Given the description of an element on the screen output the (x, y) to click on. 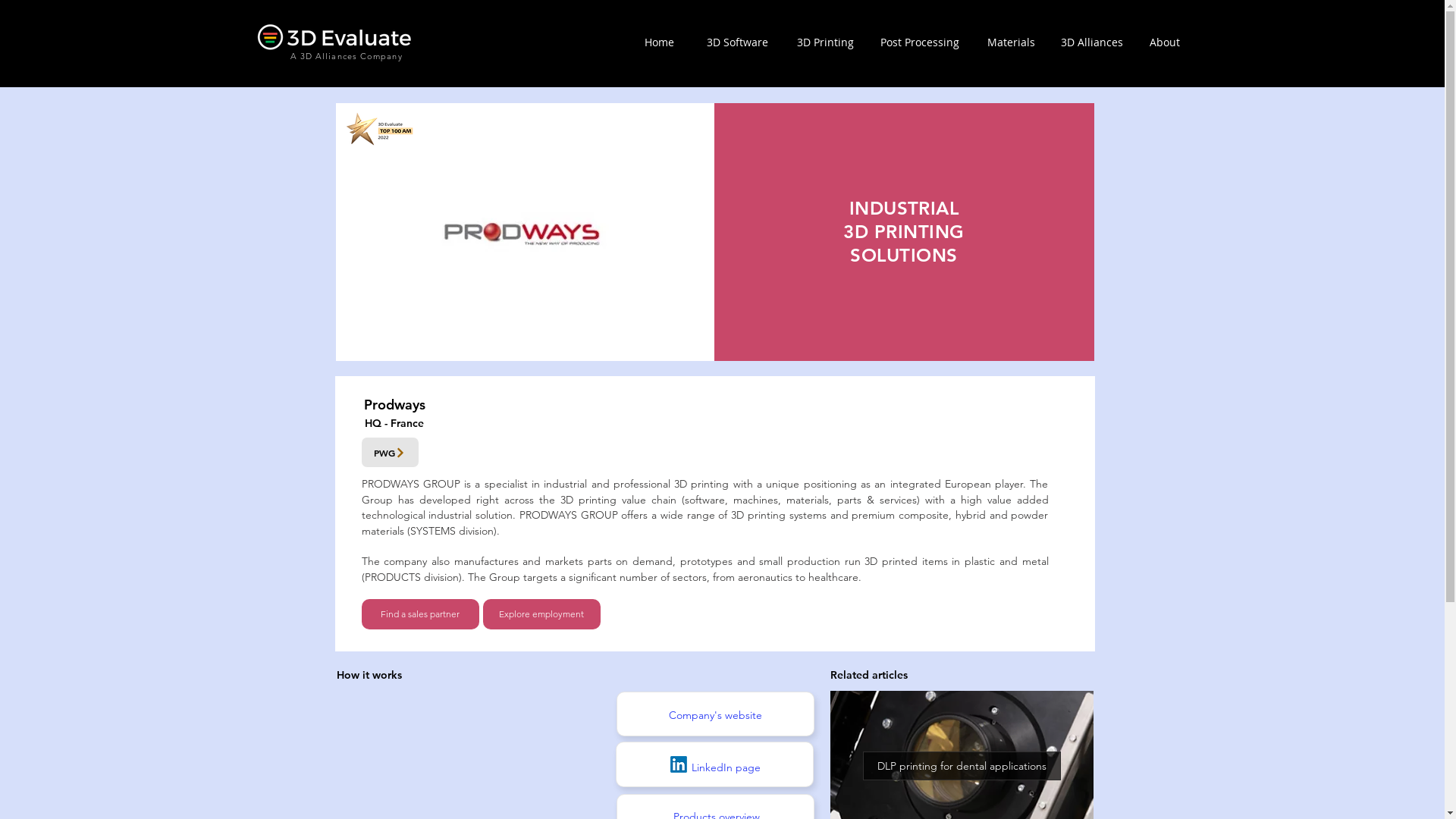
3D Alliances Element type: text (1091, 41)
Related articles Element type: text (867, 674)
DLP printing for dental applications Element type: text (960, 765)
Materials Element type: text (1011, 41)
Company's website Element type: text (715, 714)
3D Software Element type: text (737, 41)
Find a sales partner Element type: text (419, 614)
Post Processing Element type: text (918, 41)
About Element type: text (1164, 41)
3D Printing Element type: text (824, 41)
How it works Element type: text (368, 674)
HQ - France Element type: text (393, 422)
PWG Element type: text (388, 452)
LinkedIn page Element type: text (725, 766)
Explore employment Element type: text (540, 614)
Home Element type: text (659, 41)
Prodways Element type: text (394, 404)
